Given the description of an element on the screen output the (x, y) to click on. 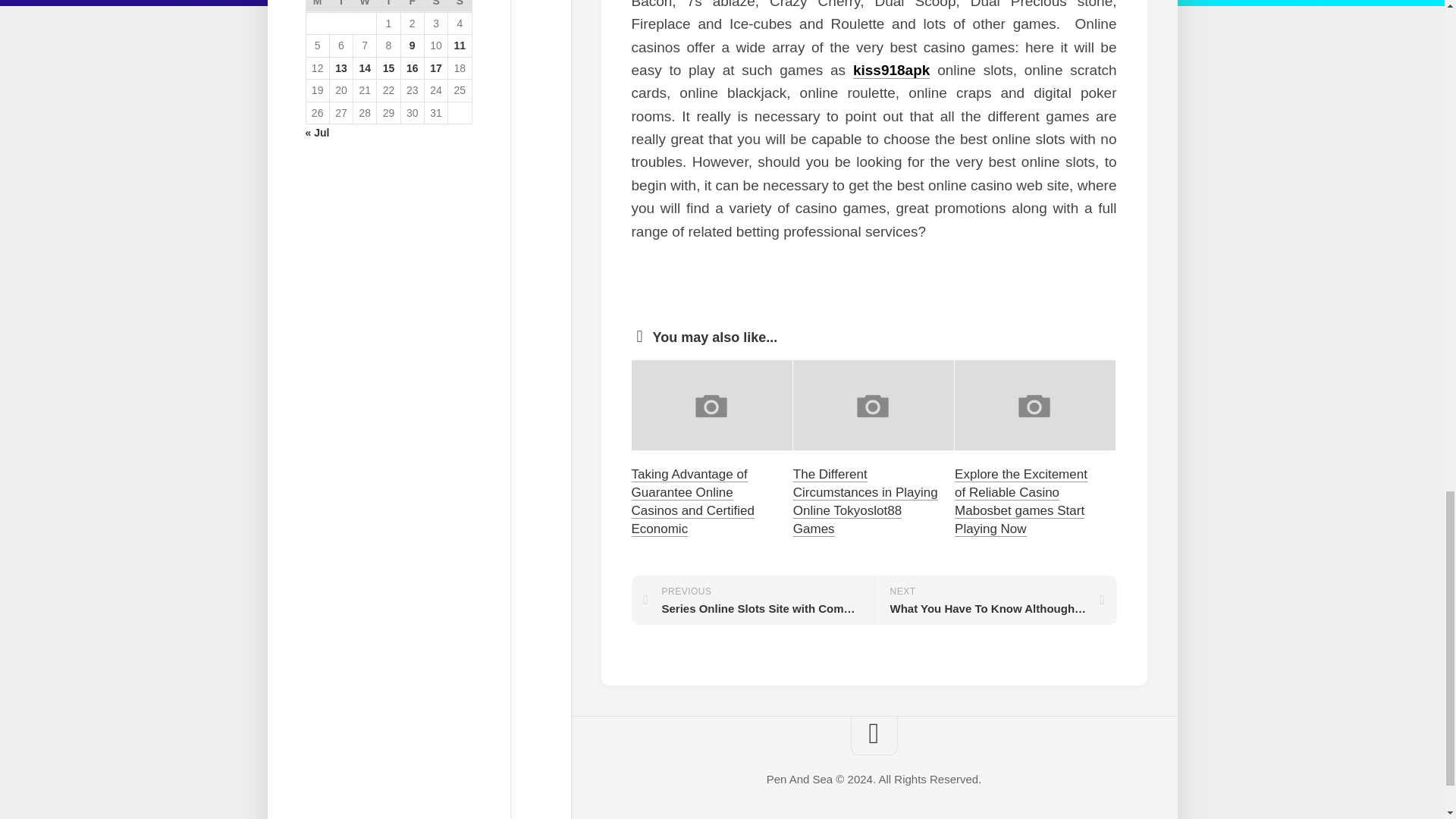
Sunday (459, 6)
Friday (411, 6)
15 (388, 68)
17 (435, 68)
16 (412, 68)
14 (364, 68)
